Given the description of an element on the screen output the (x, y) to click on. 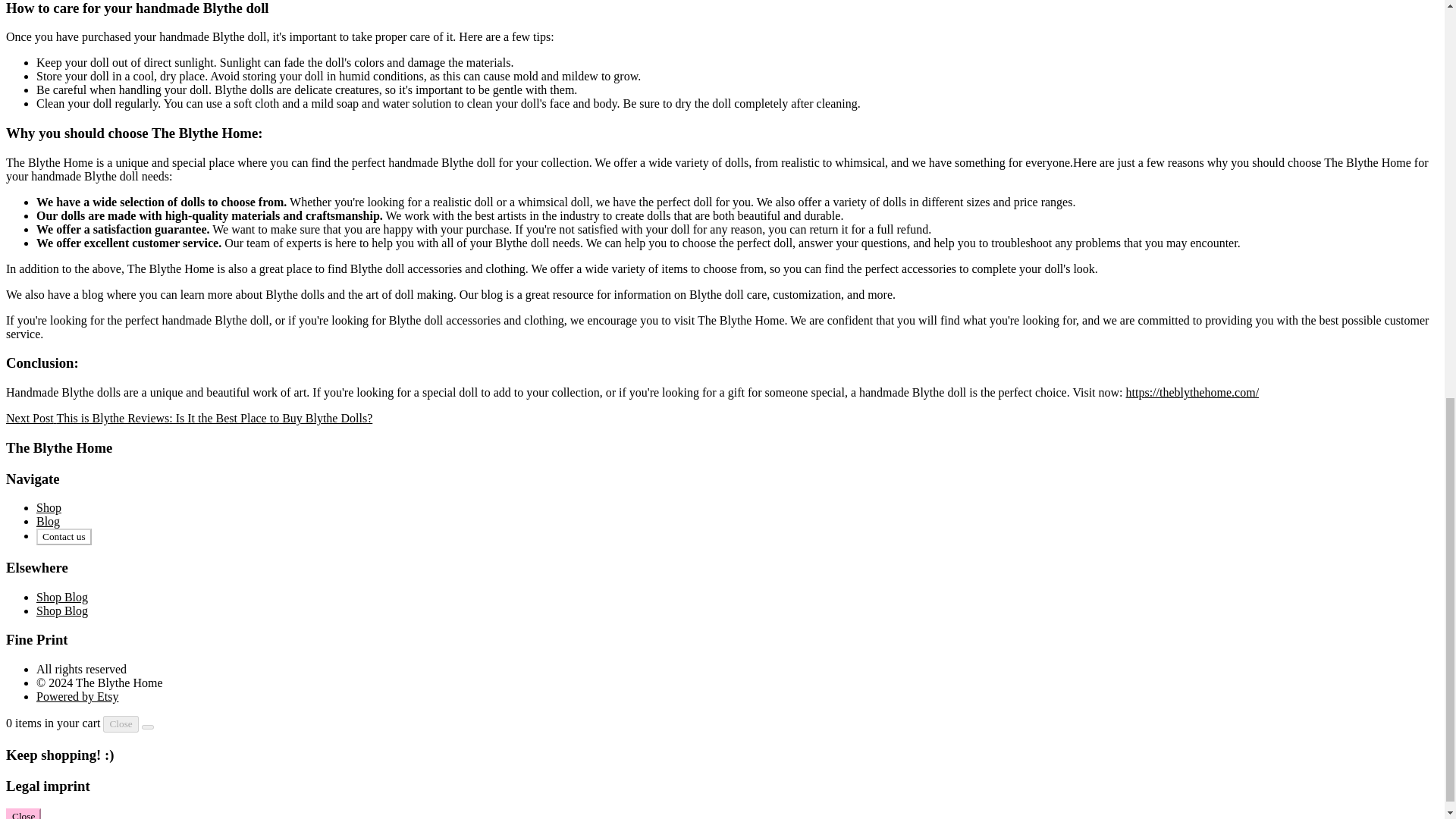
Close (120, 723)
Contact us (63, 536)
Powered by Etsy (76, 696)
Shop Blog (61, 596)
Shop Blog (61, 610)
Blog (47, 521)
Shop (48, 507)
